Given the description of an element on the screen output the (x, y) to click on. 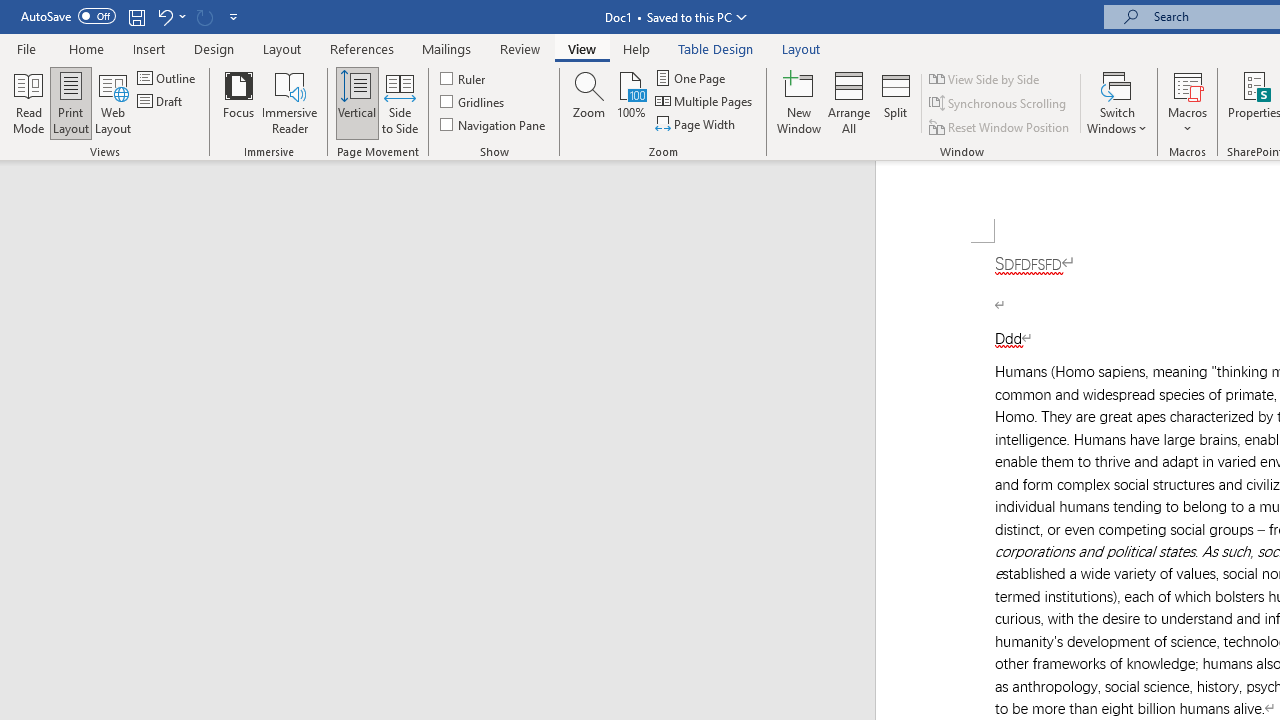
Vertical (356, 102)
Can't Repeat (204, 15)
Zoom... (589, 102)
Multiple Pages (705, 101)
View Macros (1187, 84)
Outline (168, 78)
Immersive Reader (289, 102)
New Window (799, 102)
Reset Window Position (1000, 126)
Navigation Pane (493, 124)
